Given the description of an element on the screen output the (x, y) to click on. 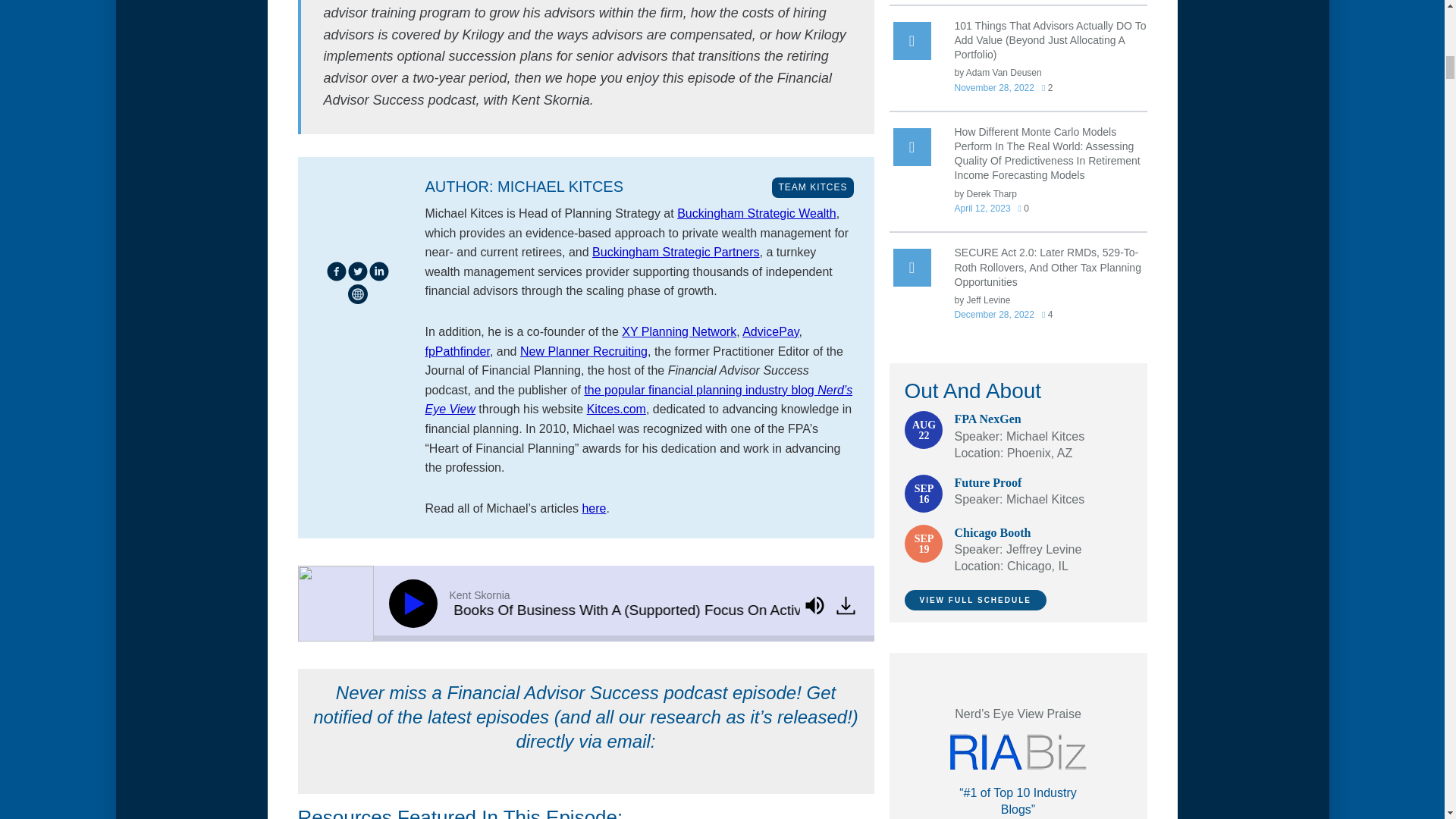
Download (845, 606)
